Given the description of an element on the screen output the (x, y) to click on. 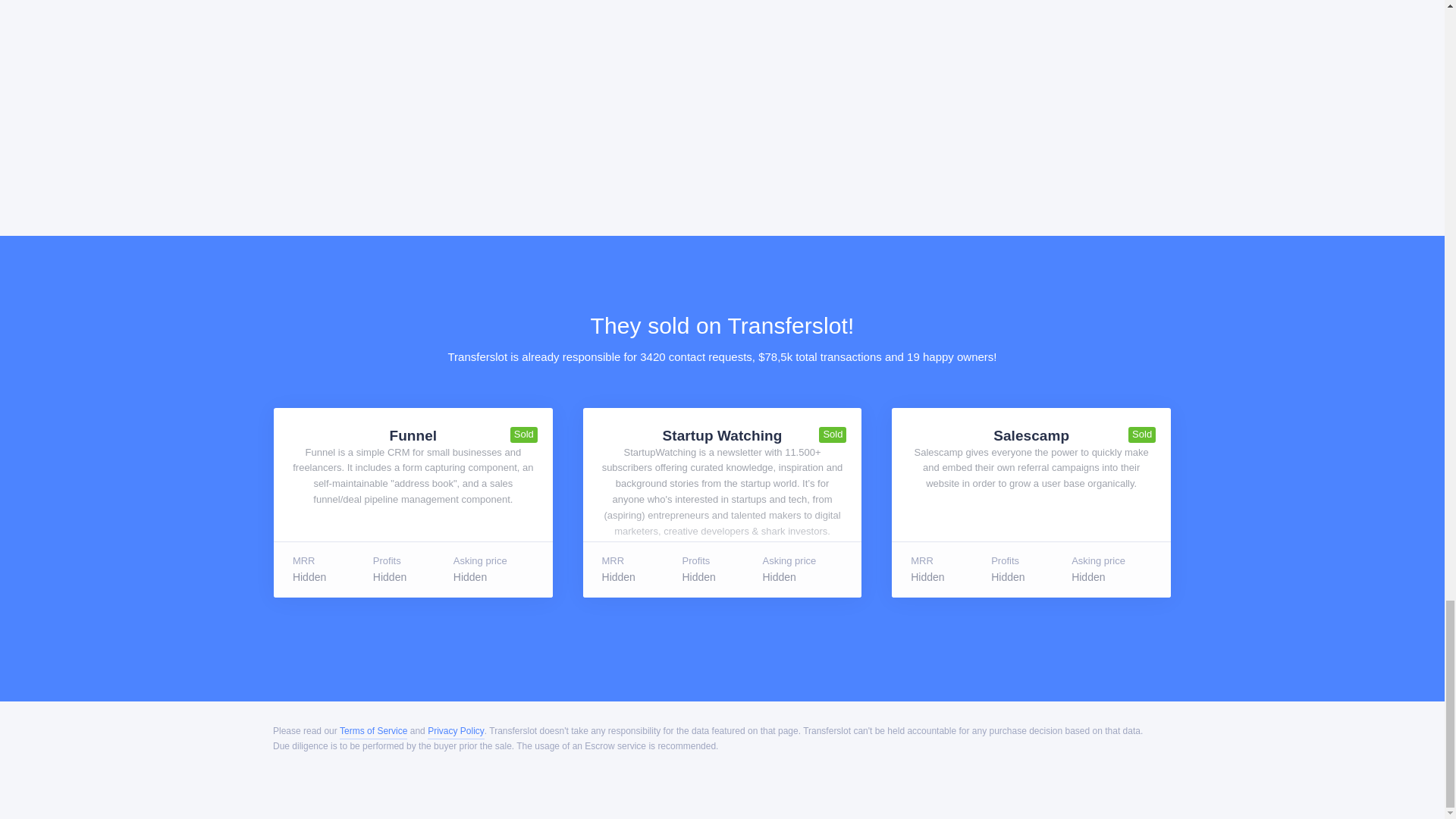
Get new projects in your inbox (809, 87)
Terms of Service (373, 731)
Privacy Policy (456, 731)
